Given the description of an element on the screen output the (x, y) to click on. 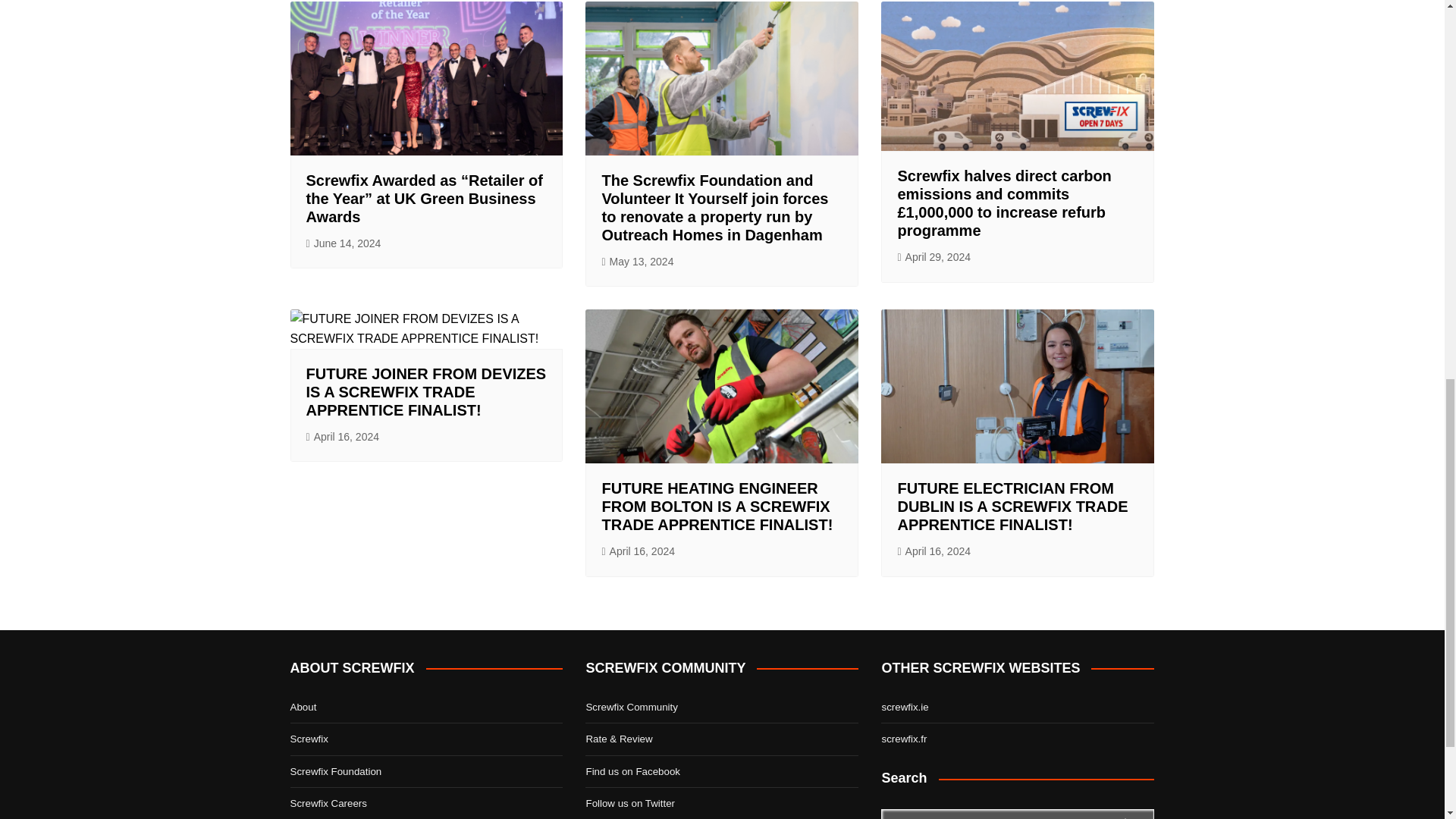
April 29, 2024 (933, 257)
April 16, 2024 (342, 436)
June 14, 2024 (343, 243)
May 13, 2024 (636, 262)
